Given the description of an element on the screen output the (x, y) to click on. 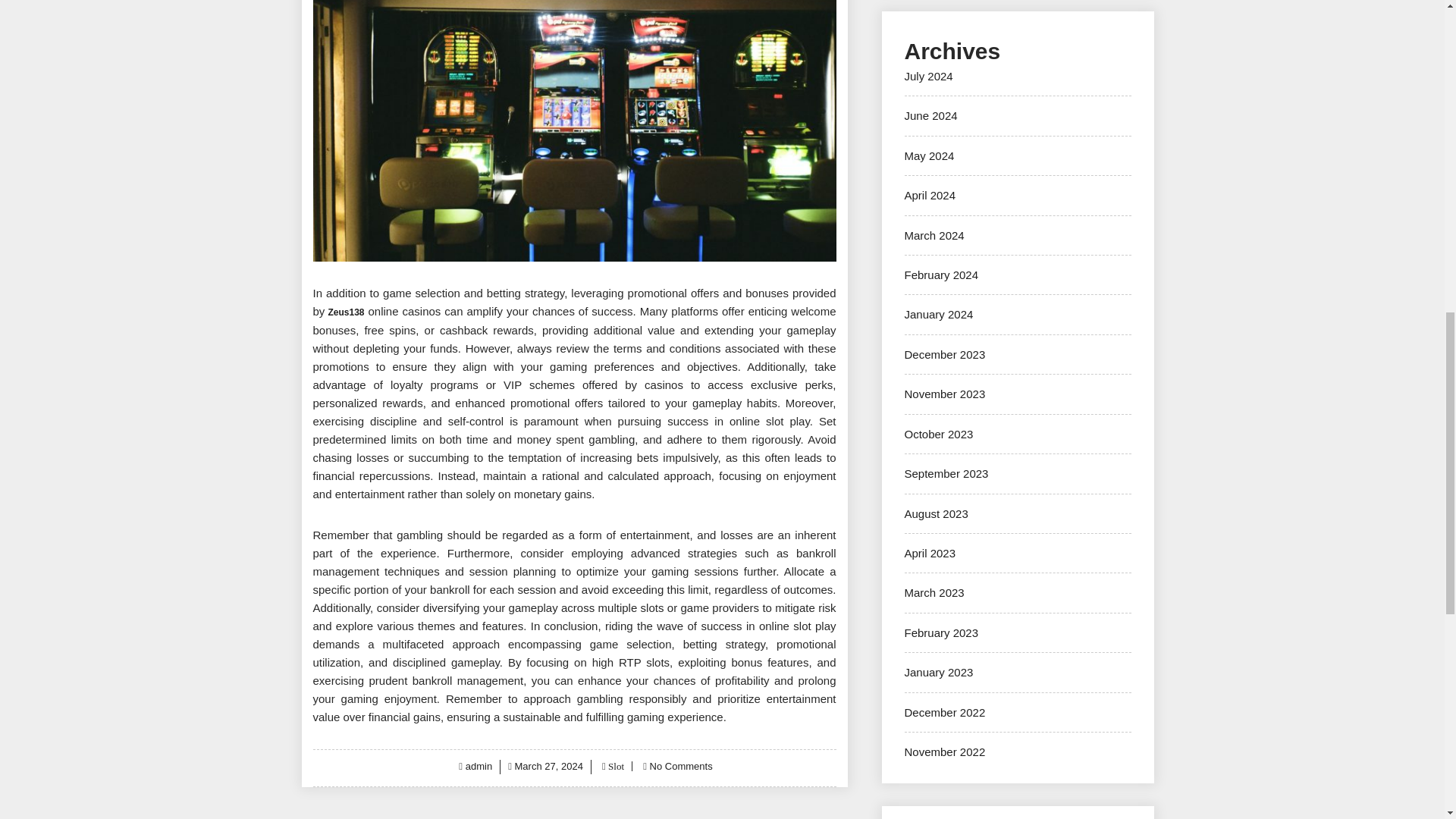
April 2023 (929, 553)
Slot (614, 766)
July 2024 (928, 75)
January 2024 (938, 314)
December 2022 (944, 712)
March 2024 (933, 235)
June 2024 (930, 115)
April 2024 (929, 195)
admin (478, 766)
Zeus138 (345, 312)
No Comments (681, 766)
October 2023 (938, 433)
February 2023 (941, 632)
November 2023 (944, 393)
March 2023 (933, 592)
